Given the description of an element on the screen output the (x, y) to click on. 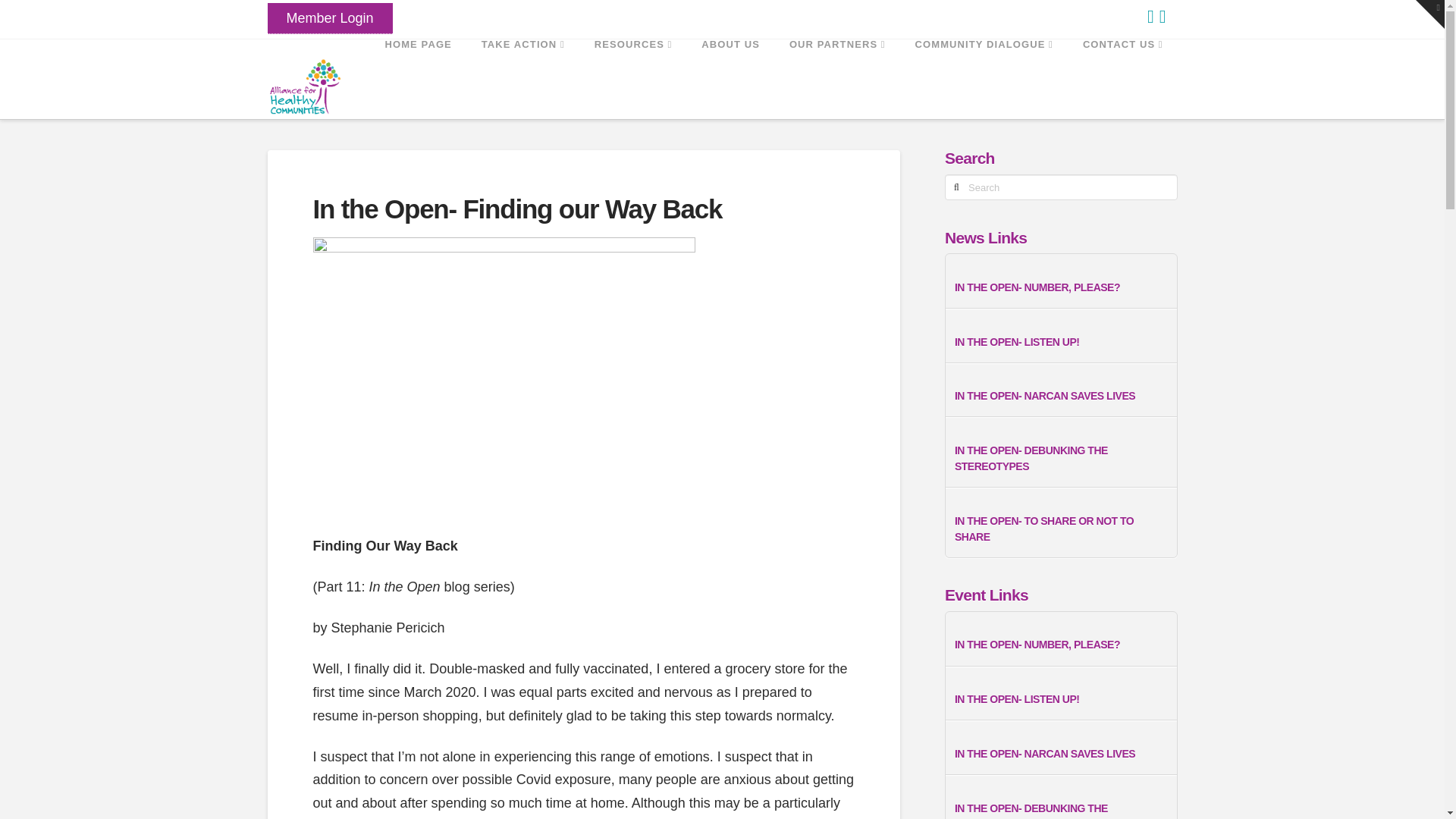
Read more (1061, 342)
TAKE ACTION (522, 73)
Read more (1061, 529)
RESOURCES (633, 73)
Read more (1061, 644)
Read more (1061, 396)
Read more (1061, 459)
Read more (1061, 809)
Read more (1061, 287)
Member Login (328, 18)
